Given the description of an element on the screen output the (x, y) to click on. 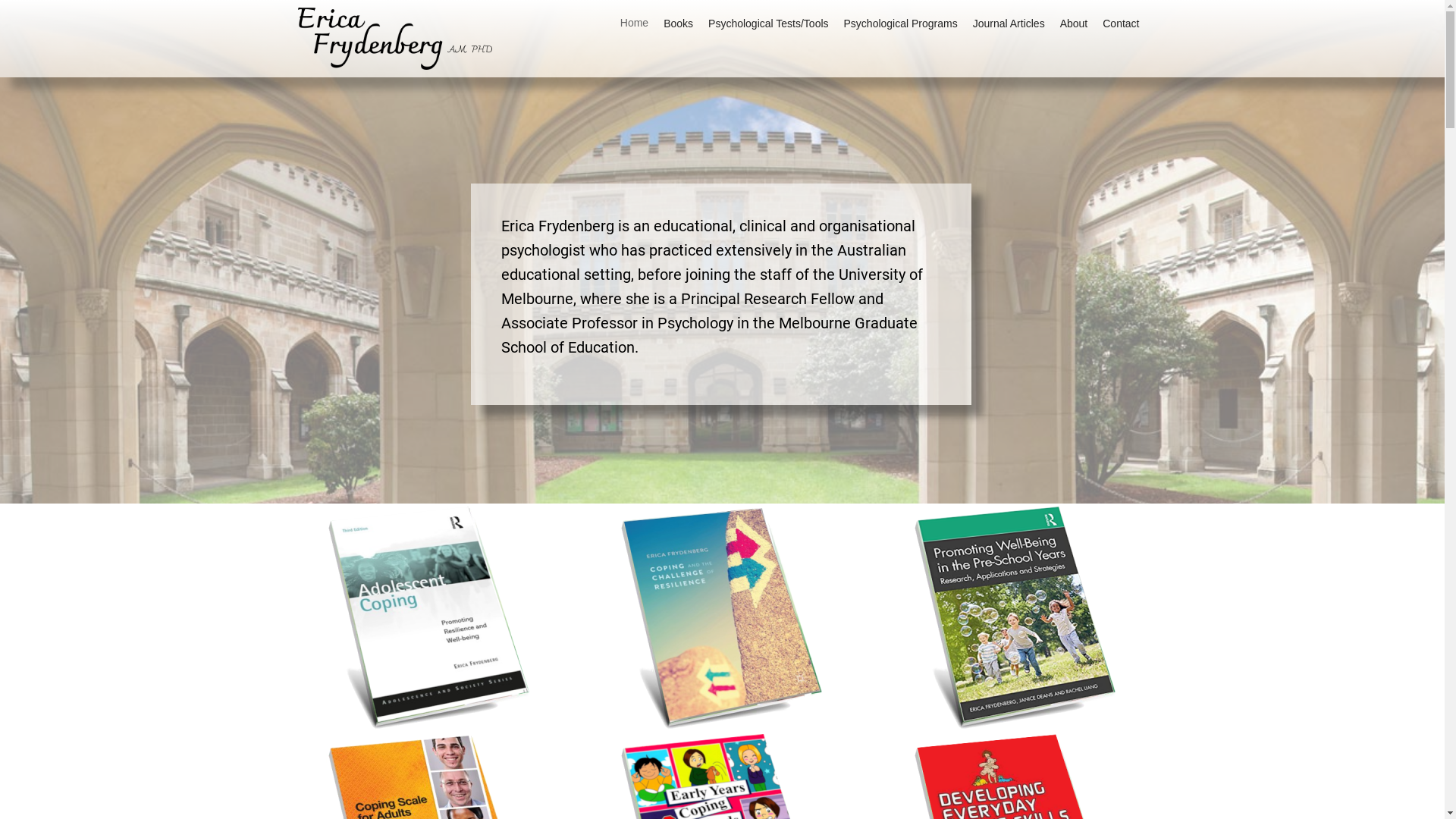
Books Element type: text (677, 22)
About Element type: text (1073, 22)
Contact Element type: text (1120, 22)
Home Element type: text (633, 22)
Psychological Programs Element type: text (900, 22)
Journal Articles Element type: text (1008, 22)
Psychological Tests/Tools Element type: text (767, 22)
